Given the description of an element on the screen output the (x, y) to click on. 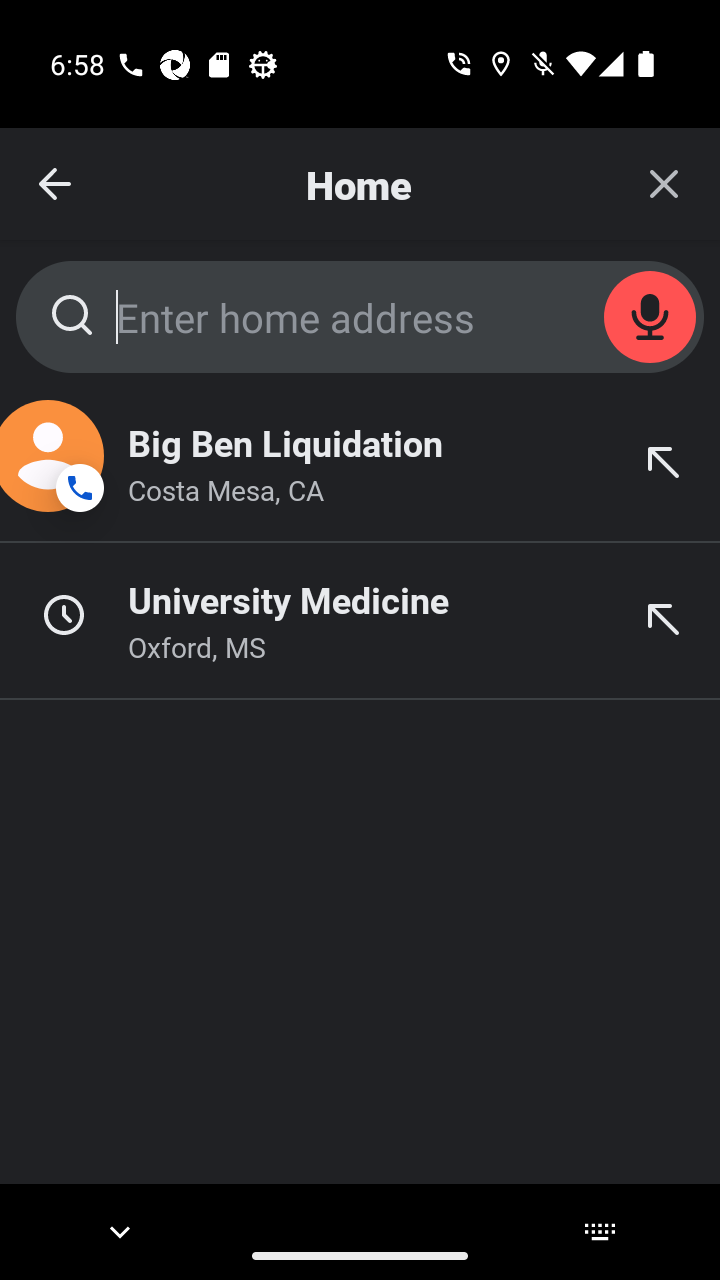
Enter home address (359, 316)
